Given the description of an element on the screen output the (x, y) to click on. 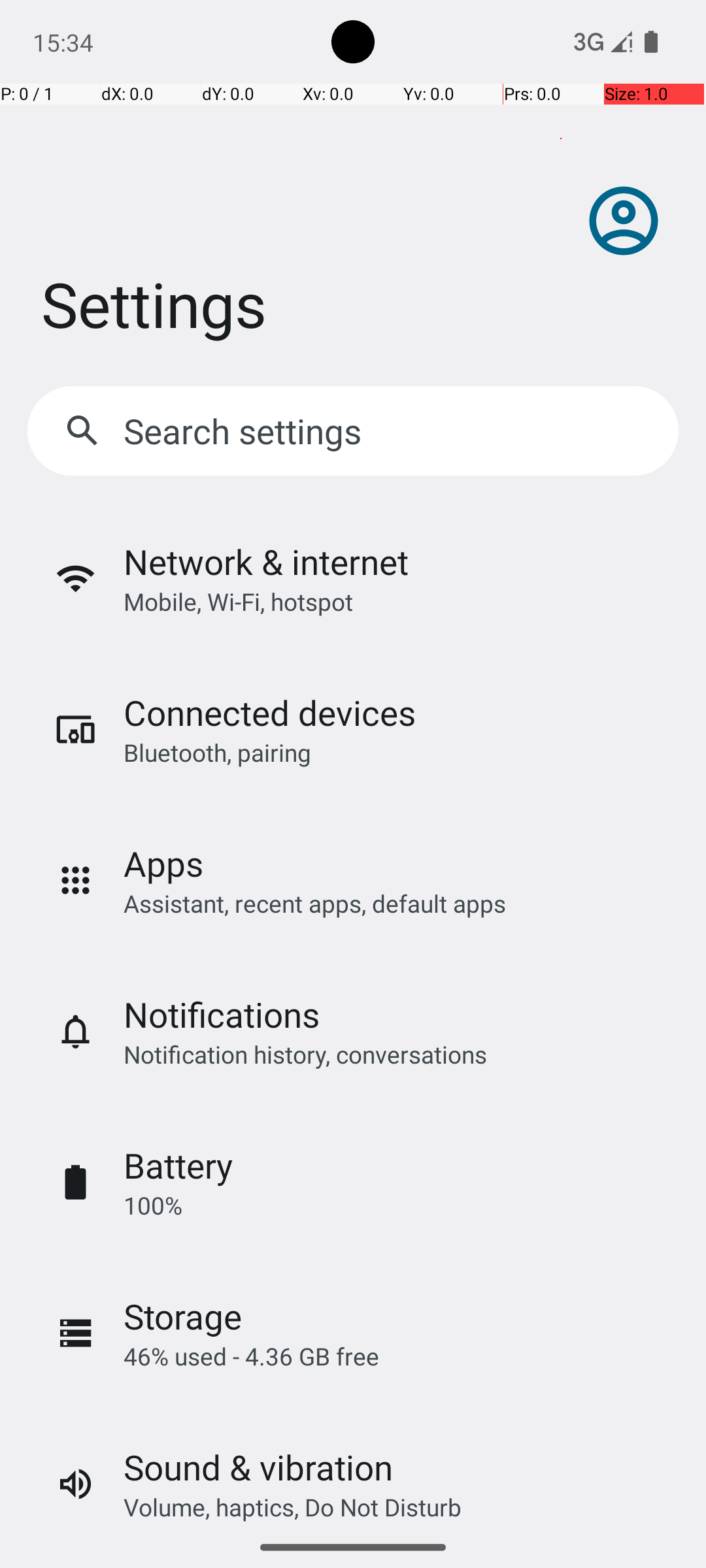
46% used - 4.36 GB free Element type: android.widget.TextView (251, 1355)
